Given the description of an element on the screen output the (x, y) to click on. 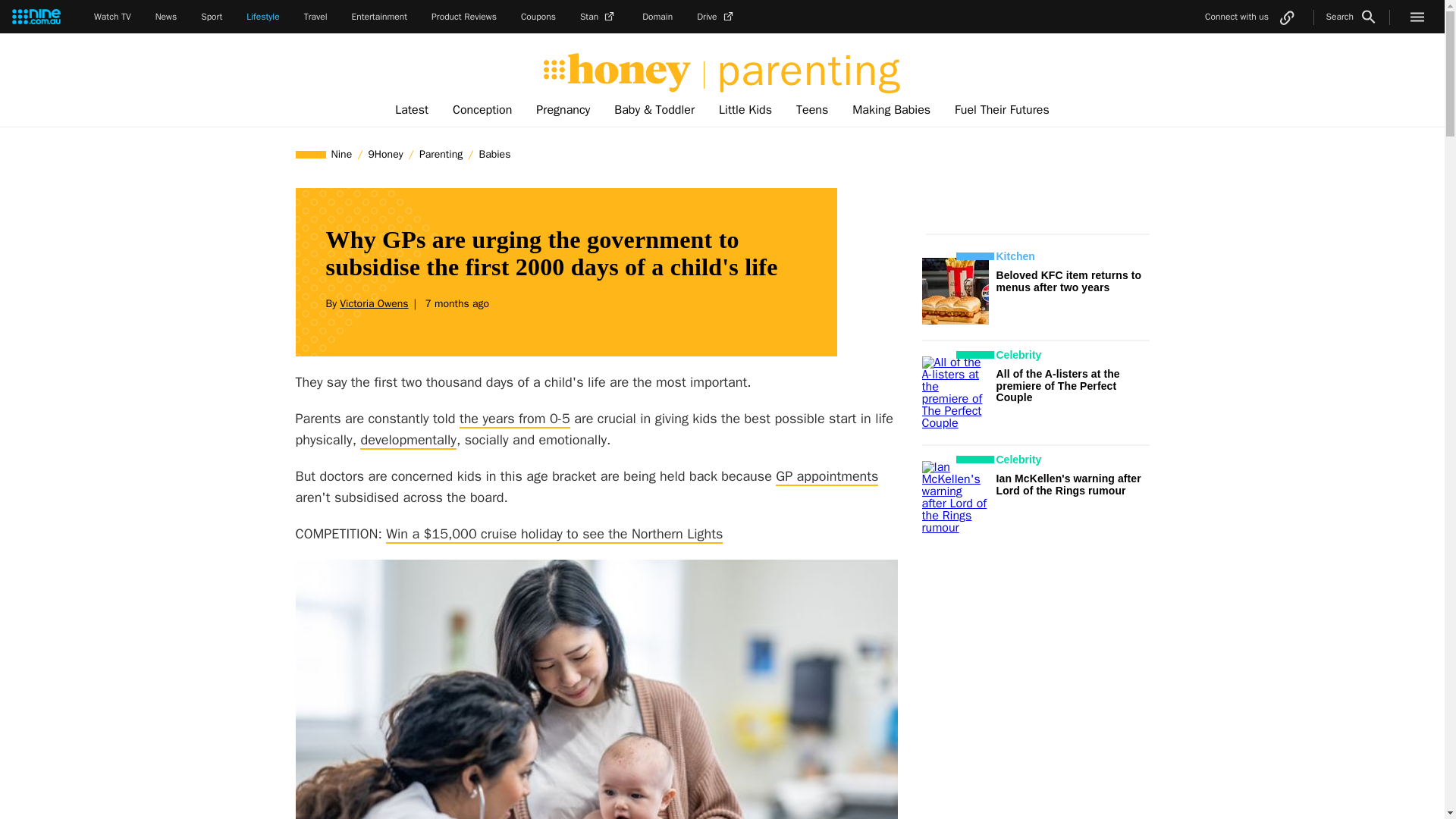
Stan (598, 16)
Coupons (538, 16)
Lifestyle (262, 16)
Parenting (440, 154)
Teens (812, 109)
Latest (411, 109)
GP appointments (826, 476)
Entertainment (379, 16)
the years from 0-5 (515, 419)
2024-02-20 05:01 (454, 303)
